Given the description of an element on the screen output the (x, y) to click on. 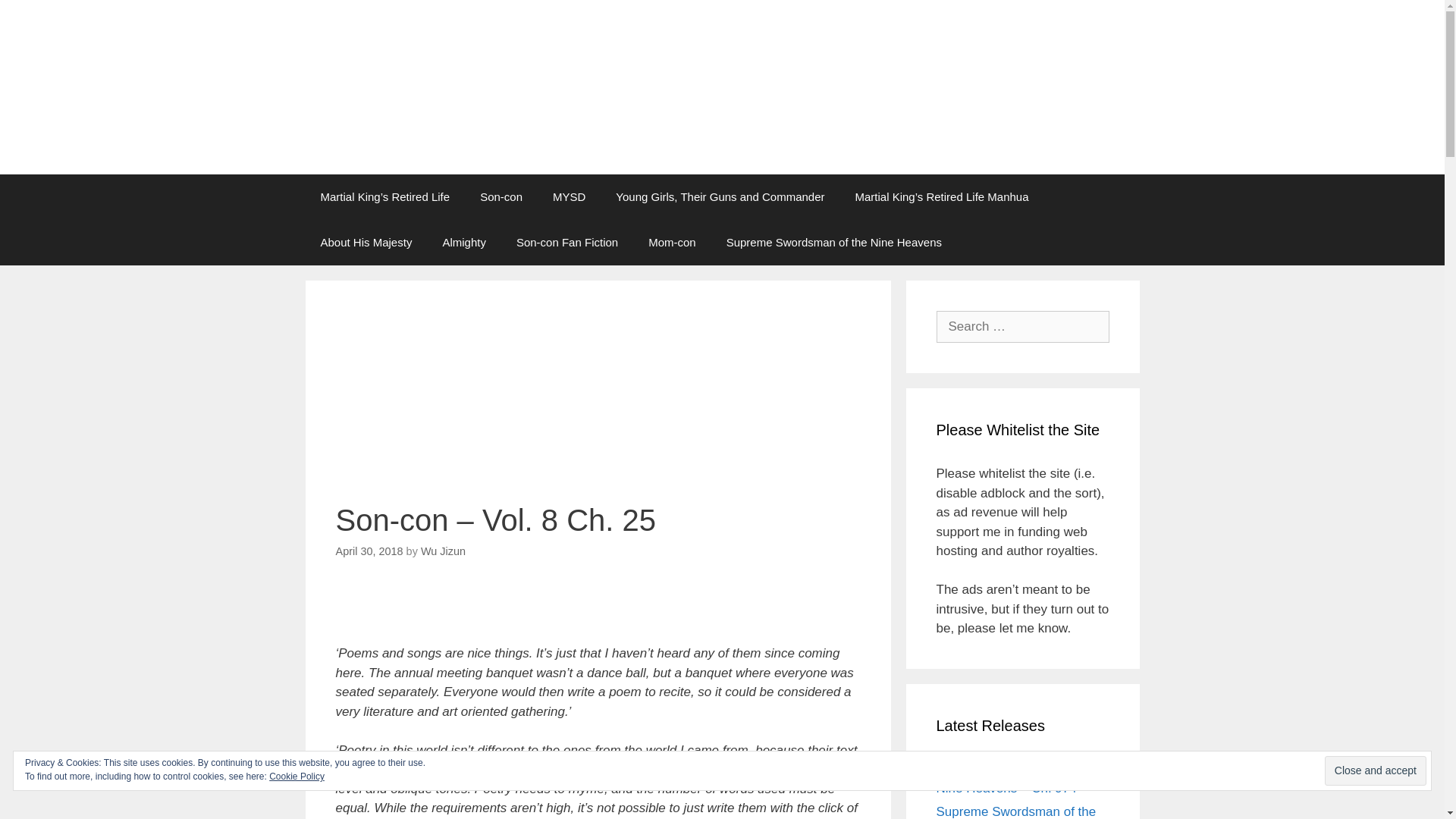
Almighty (463, 242)
Young Girls, Their Guns and Commander (719, 197)
6:30 pm (368, 551)
Search (36, 15)
Close and accept (1375, 770)
April 30, 2018 (368, 551)
Search for: (1022, 327)
Wu Jizun (442, 551)
View all posts by Wu Jizun (442, 551)
MYSD (568, 197)
